Given the description of an element on the screen output the (x, y) to click on. 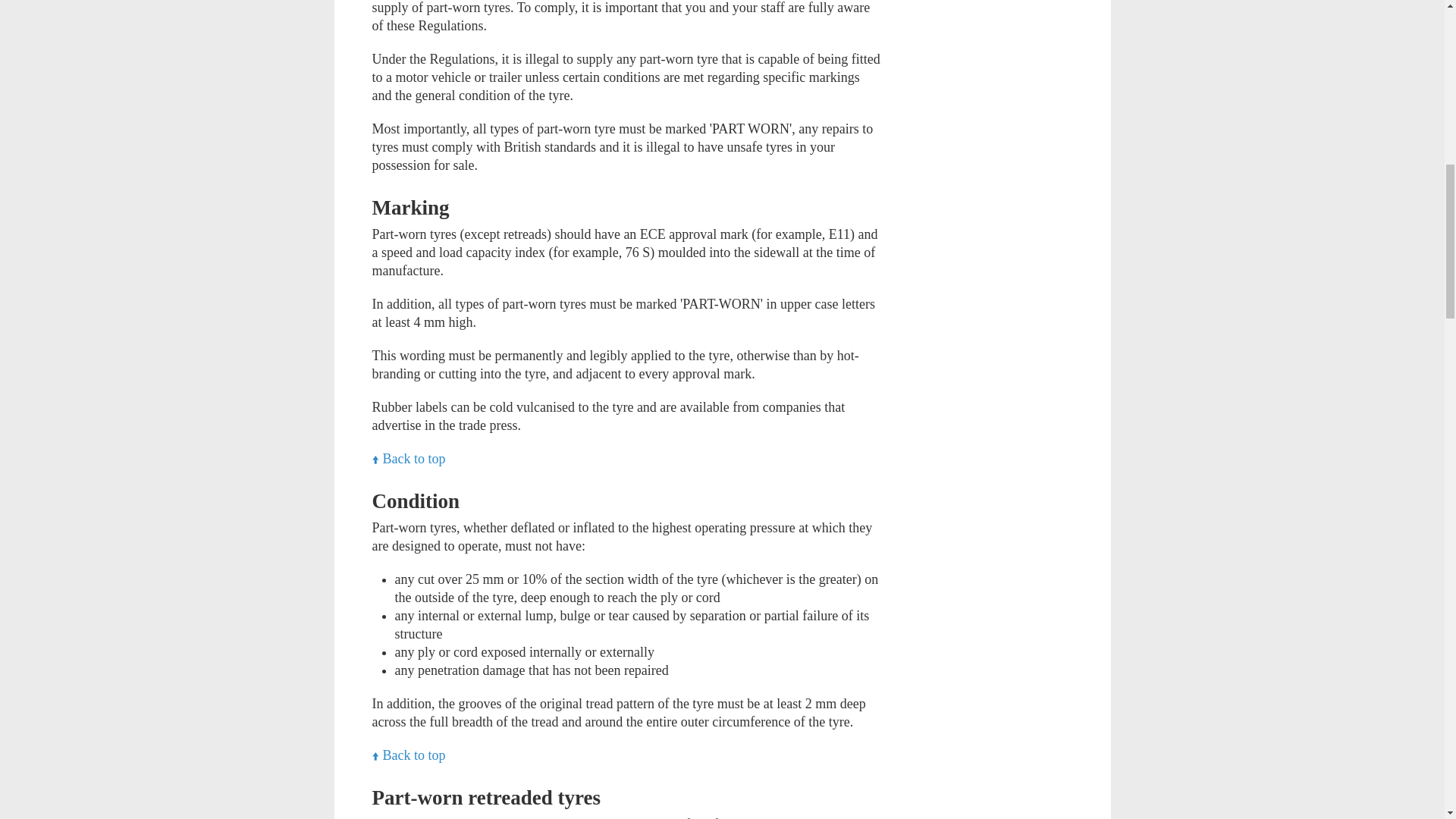
Back to top (408, 458)
Back to top (408, 458)
Back to top (408, 754)
Back to top (408, 754)
